Given the description of an element on the screen output the (x, y) to click on. 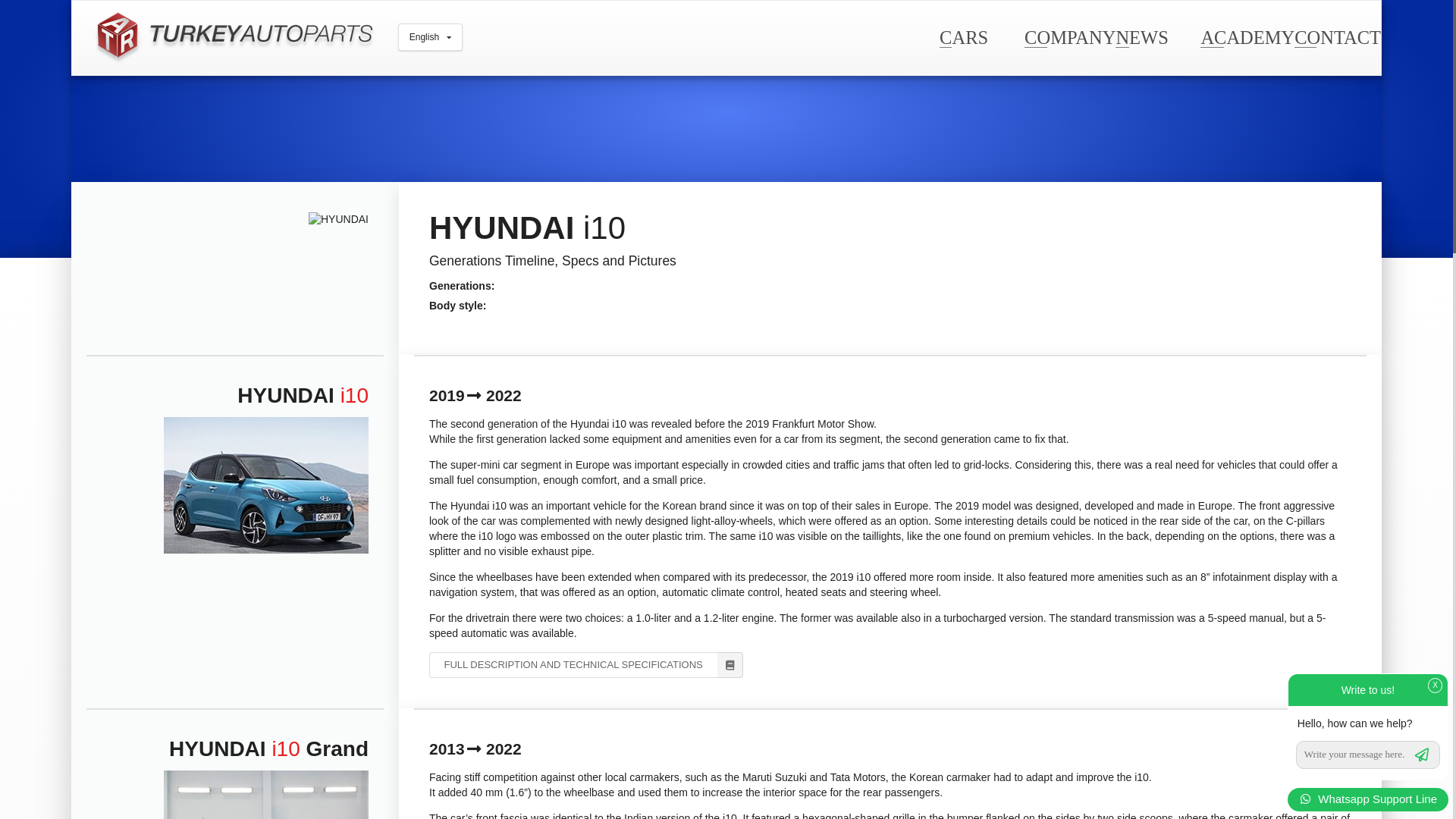
ACADEMY (1246, 37)
CARS (963, 37)
COMPANY (1070, 37)
CONTACT (1337, 37)
NEWS (1141, 37)
FULL DESCRIPTION AND TECHNICAL SPECIFICATIONS (585, 664)
